Given the description of an element on the screen output the (x, y) to click on. 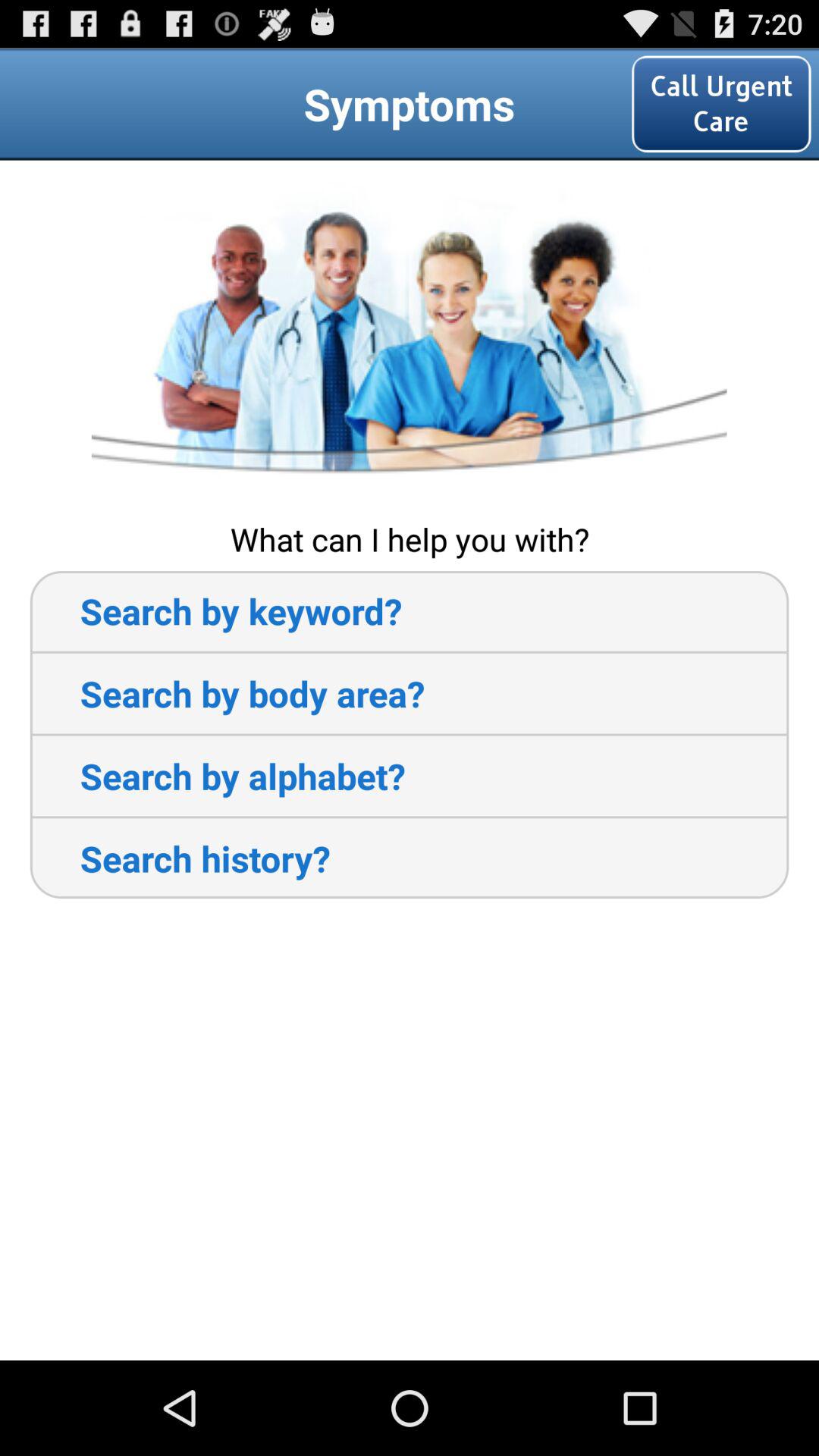
launch item below call urgent care item (408, 338)
